Given the description of an element on the screen output the (x, y) to click on. 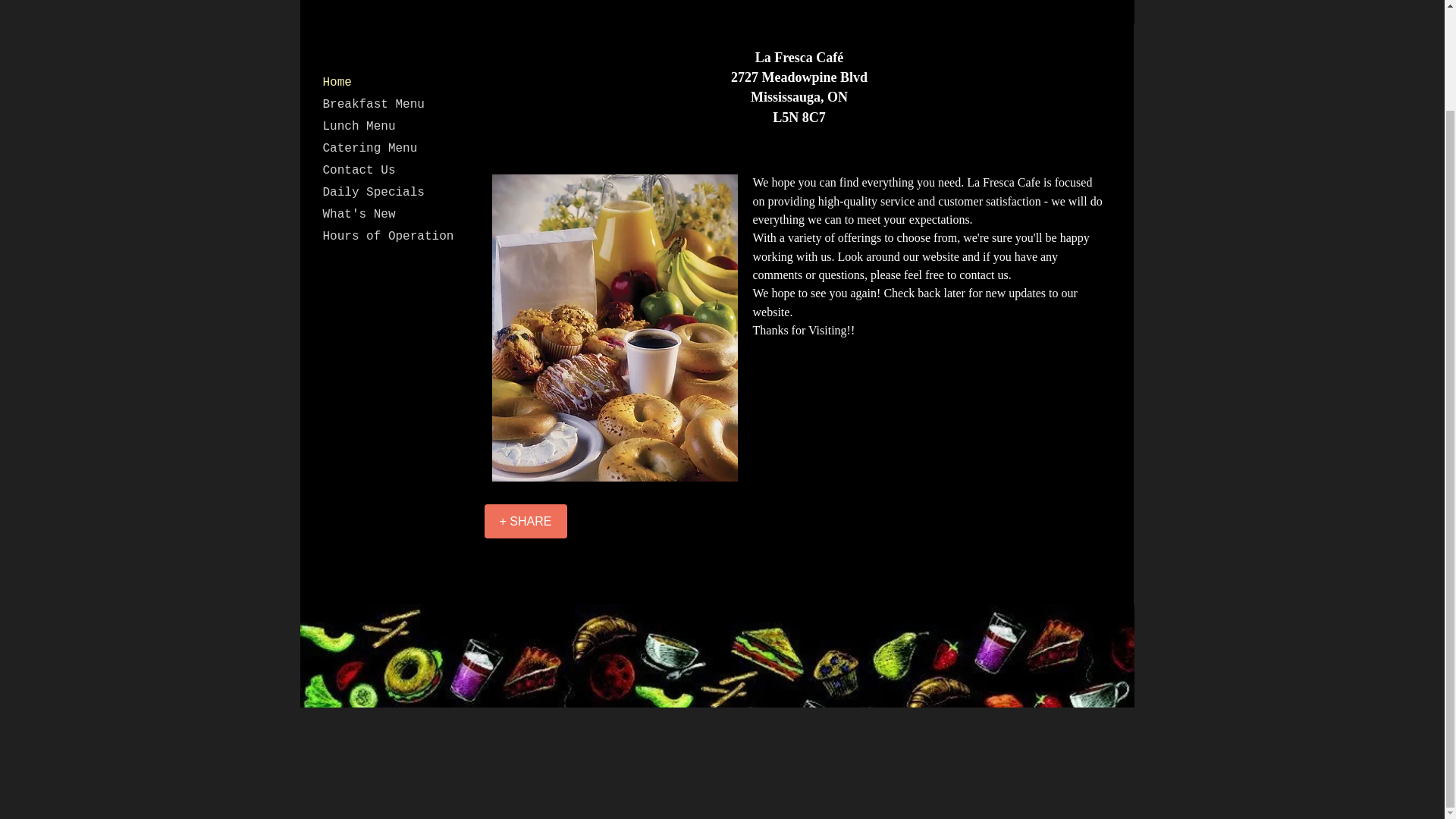
Home (337, 82)
What's New (359, 214)
Catering Menu (370, 148)
Hours of Operation (388, 236)
Contact Us (359, 170)
Daily Specials (373, 192)
Breakfast Menu (373, 104)
Lunch Menu (359, 126)
